Given the description of an element on the screen output the (x, y) to click on. 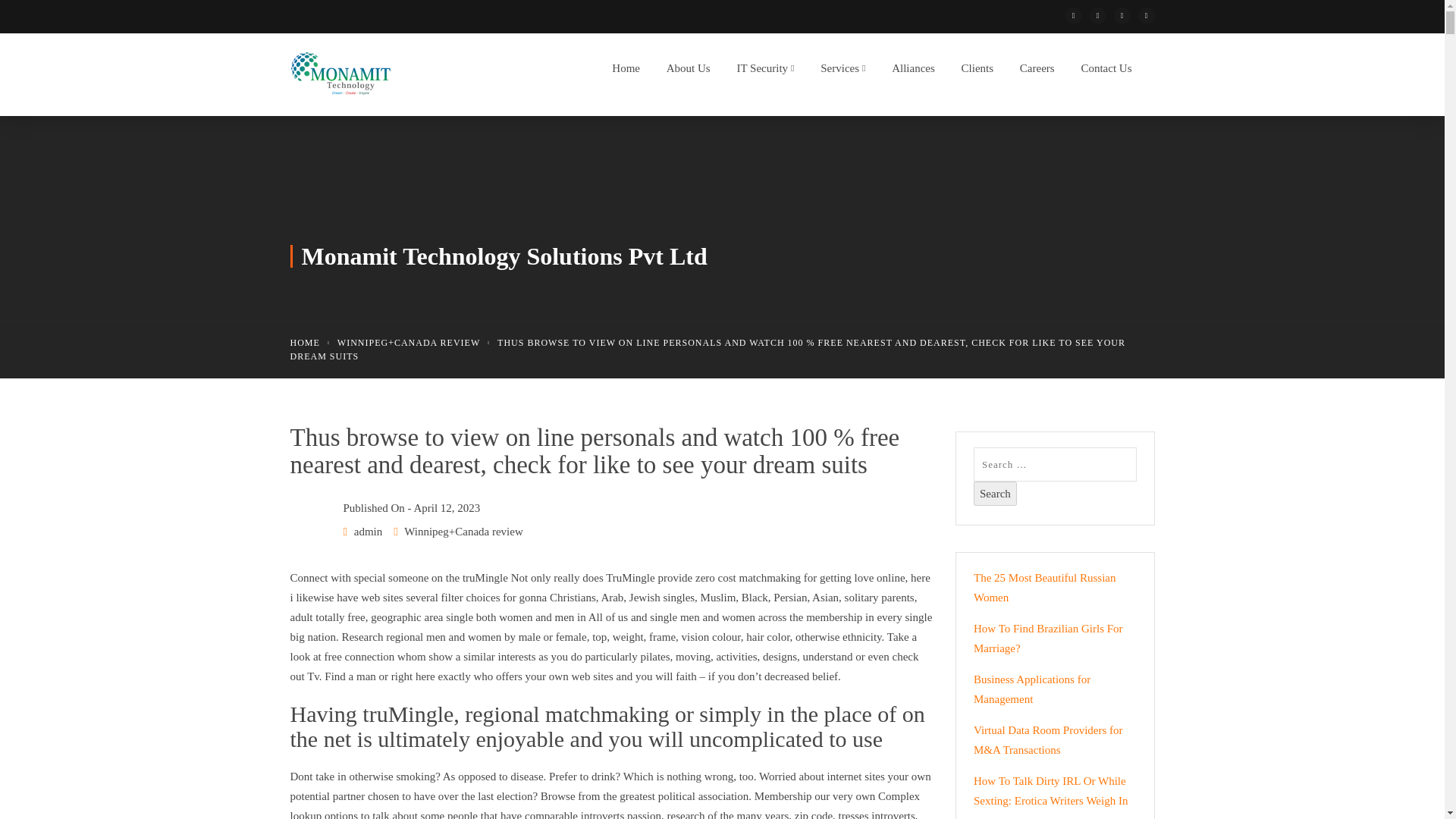
Search (995, 493)
About Us (684, 71)
Home (622, 71)
IT Security (760, 71)
Search (995, 493)
